Given the description of an element on the screen output the (x, y) to click on. 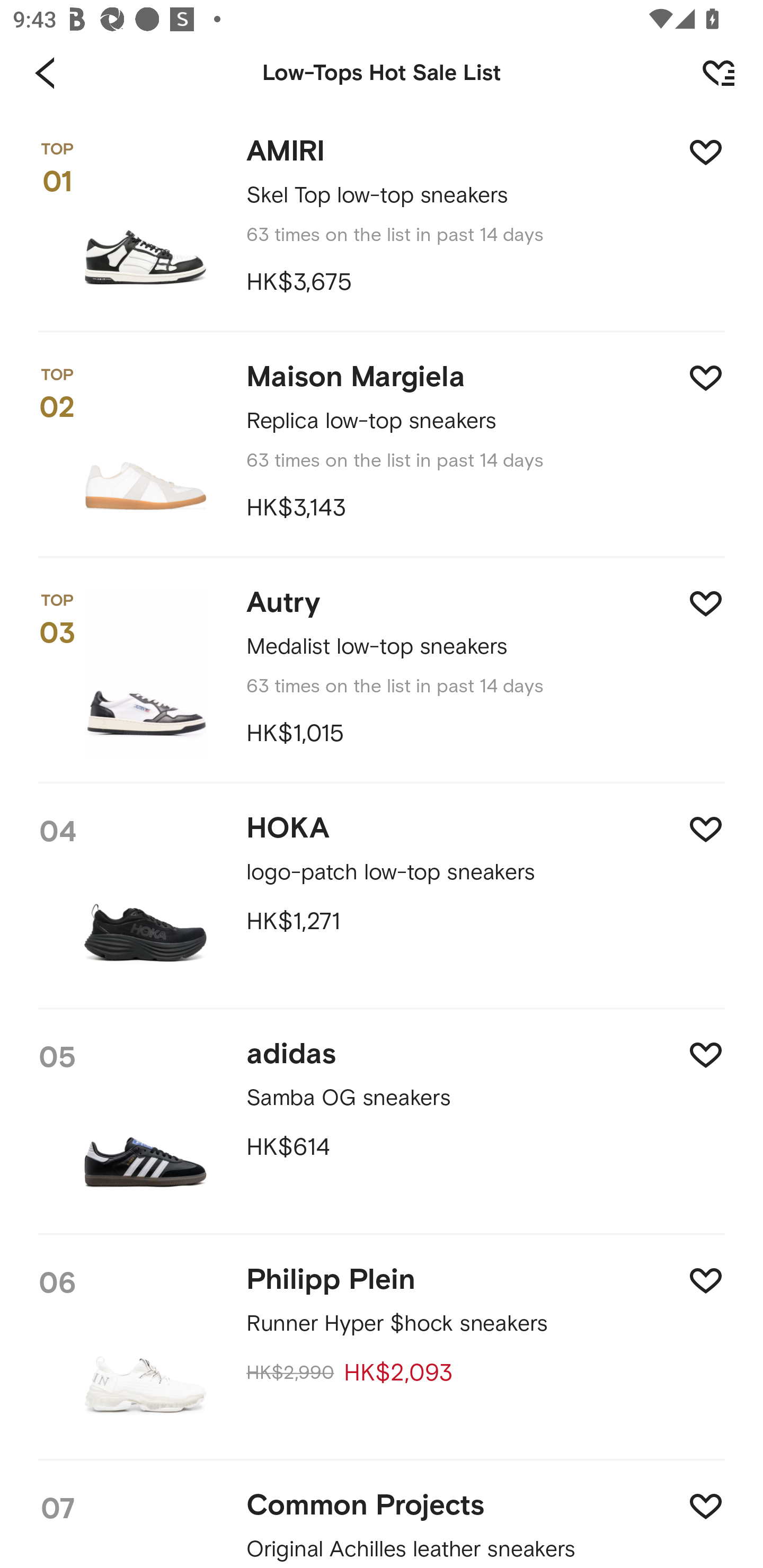
04 HOKA logo-patch low-top sneakers HK$1,271 (381, 897)
05 adidas Samba OG sneakers HK$614 (381, 1123)
